Given the description of an element on the screen output the (x, y) to click on. 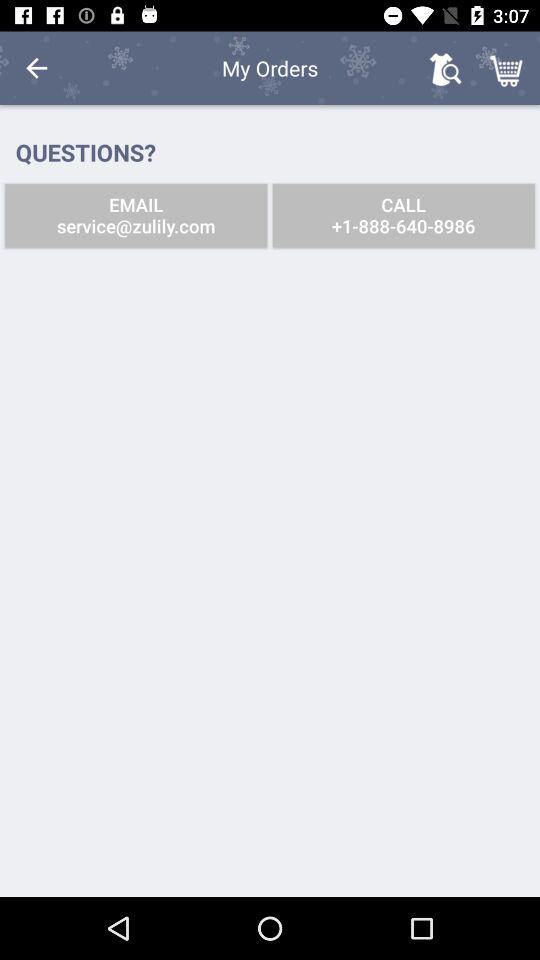
turn off the item next to the my orders icon (36, 68)
